Given the description of an element on the screen output the (x, y) to click on. 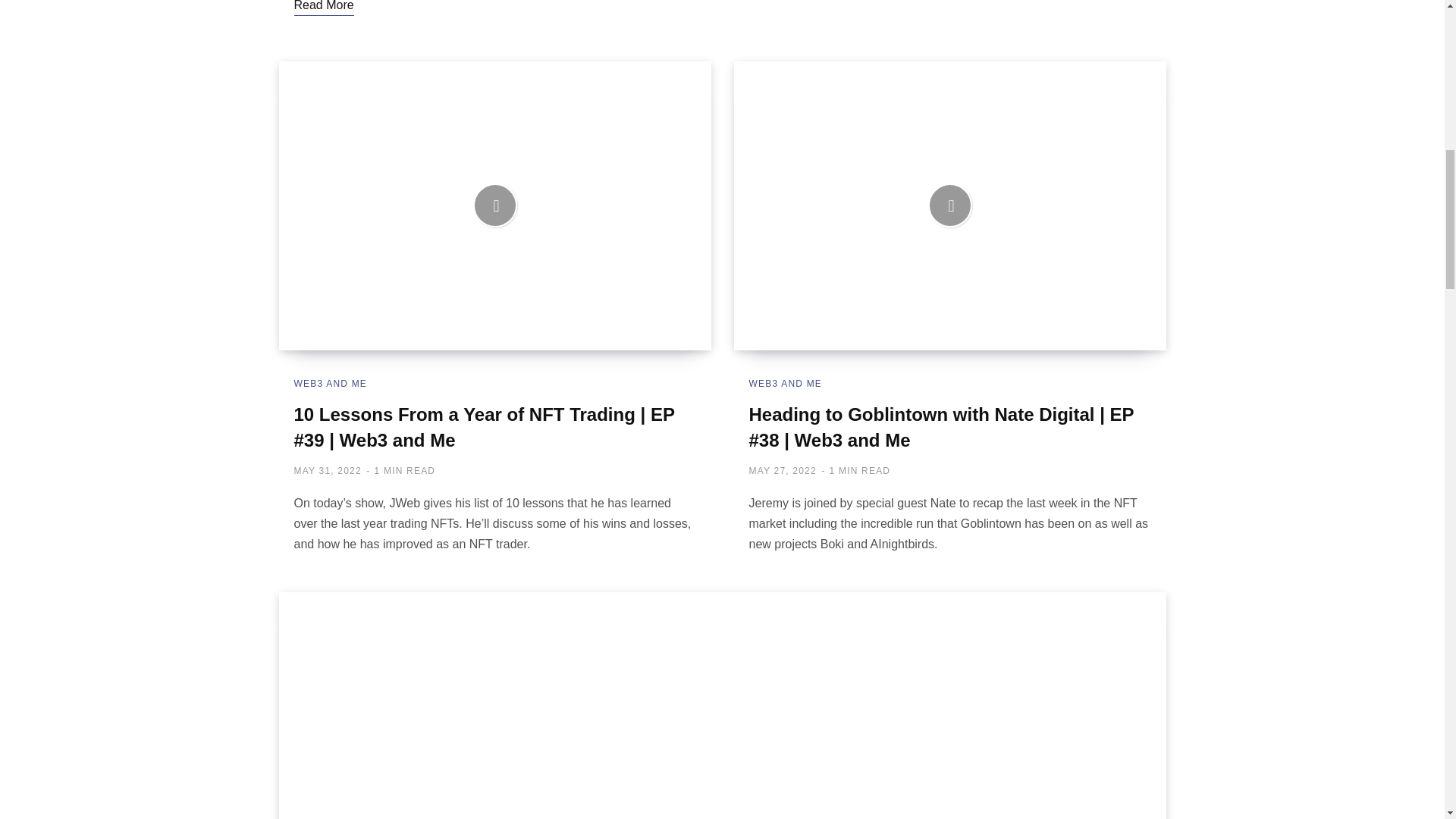
MAY 31, 2022 (327, 470)
MAY 27, 2022 (782, 470)
WEB3 AND ME (331, 383)
WEB3 AND ME (785, 383)
Read More (323, 7)
